Given the description of an element on the screen output the (x, y) to click on. 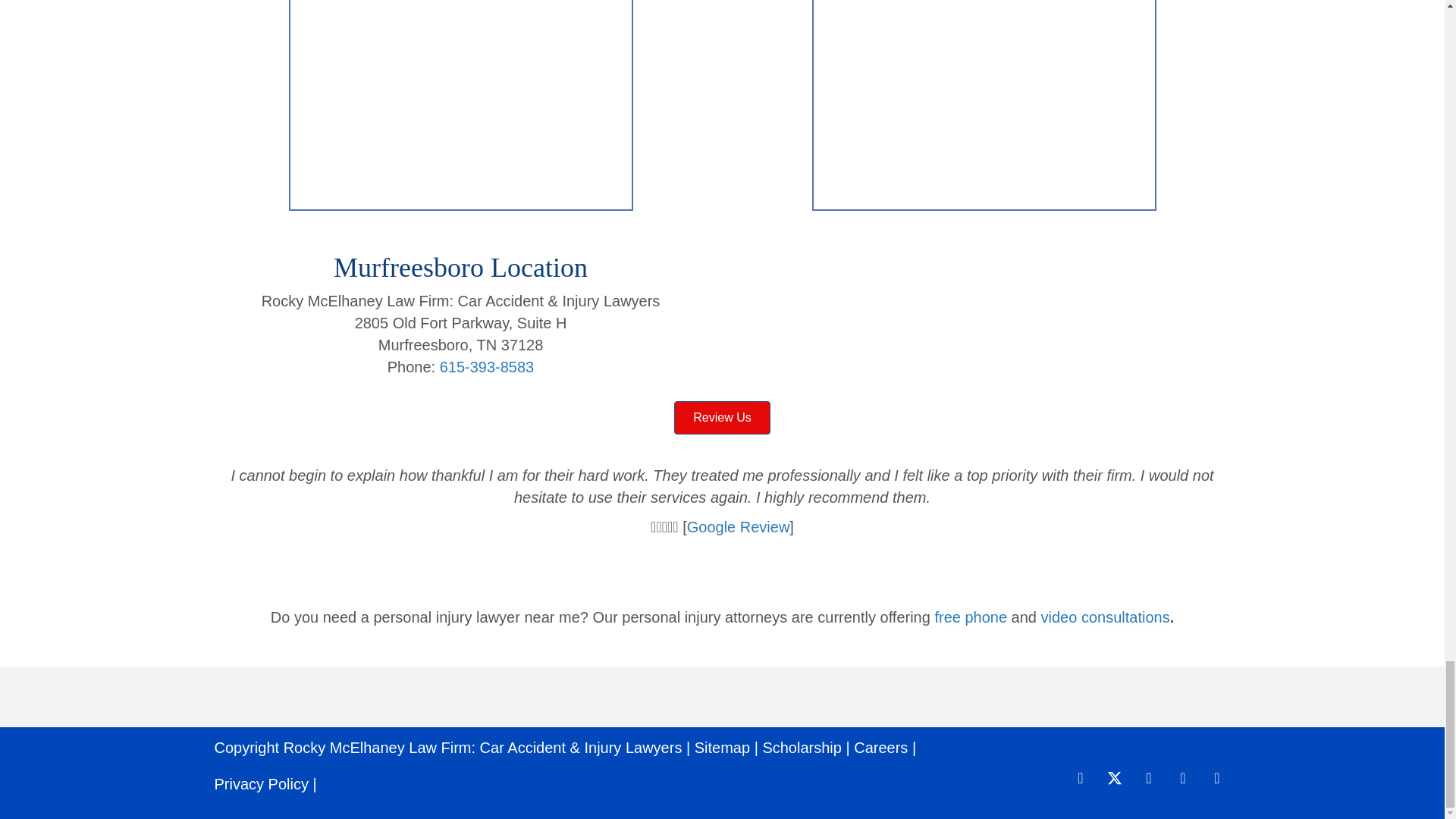
LinkedIn (1148, 777)
Instagram (1182, 777)
Facebook (1080, 777)
Clarksville-TN (983, 104)
Hendersonville-TN (459, 104)
